Given the description of an element on the screen output the (x, y) to click on. 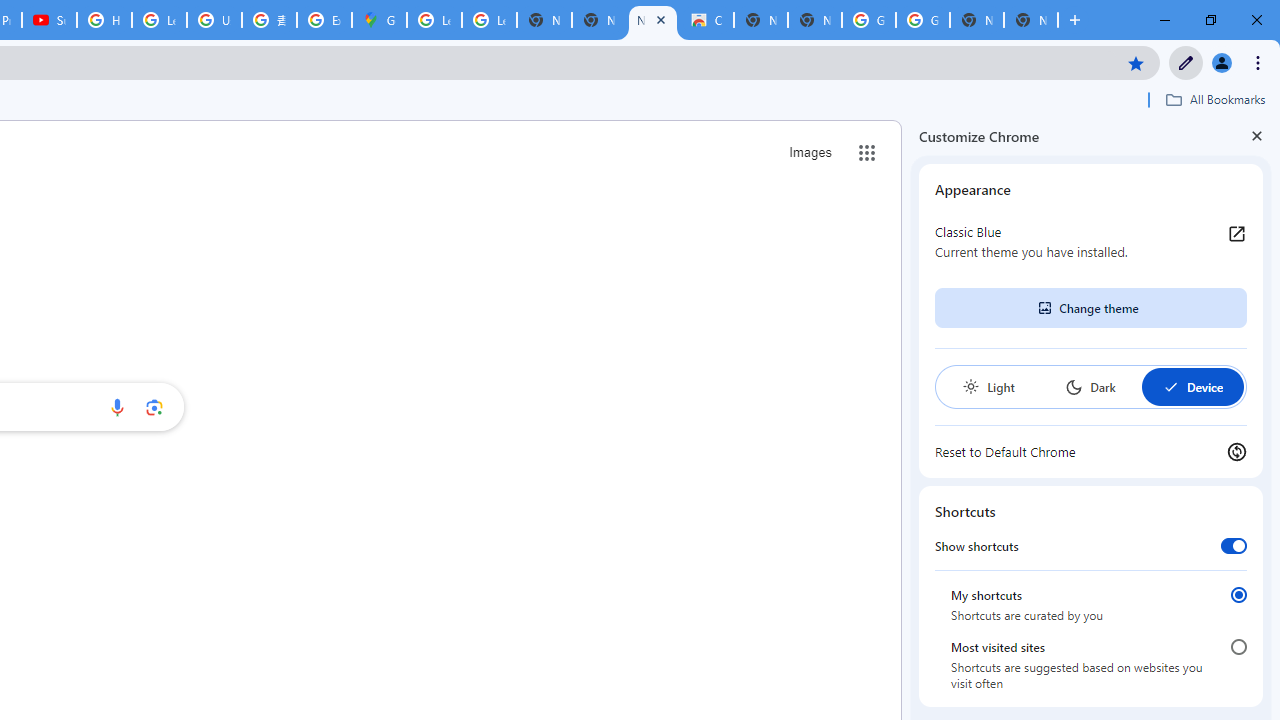
Change theme (1090, 308)
My shortcuts (1238, 594)
Light (988, 386)
How Chrome protects your passwords - Google Chrome Help (103, 20)
New Tab (1030, 20)
Chrome Web Store (706, 20)
Device (1192, 386)
